Given the description of an element on the screen output the (x, y) to click on. 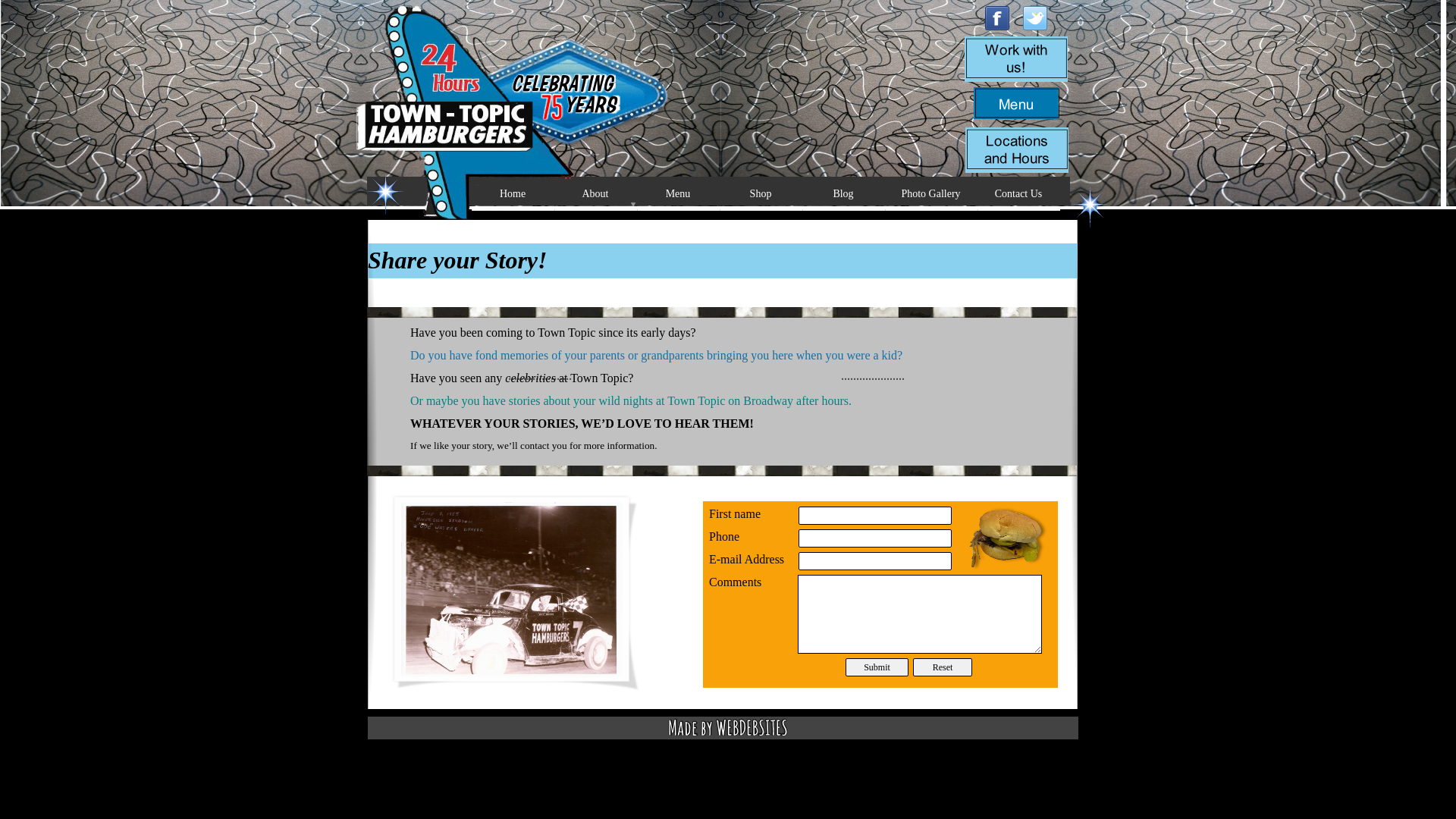
Photo Gallery (930, 193)
About (595, 193)
Blog (843, 193)
Submit (876, 667)
Shop (760, 193)
Home (512, 193)
Contact Us (1017, 193)
Reset (942, 667)
Menu (678, 193)
Town Topic Hamburger Race Car (515, 592)
Submit (876, 667)
